Given the description of an element on the screen output the (x, y) to click on. 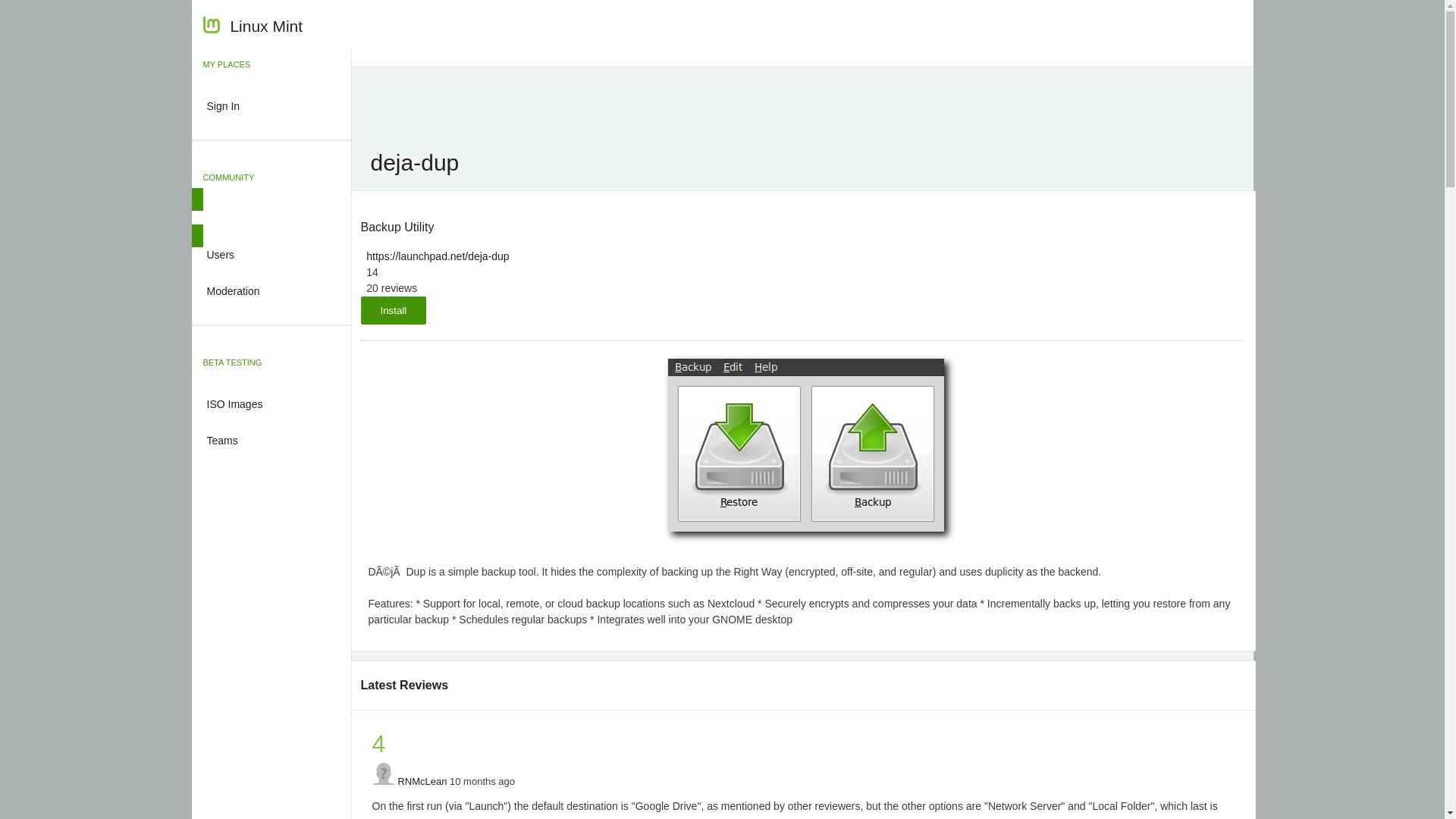
Teams (270, 438)
Moderation (270, 290)
RNMcLean (421, 781)
Software (270, 217)
Sign In (270, 105)
Install (393, 310)
Linux Mint (252, 28)
Users (270, 253)
Install (393, 309)
ISO Images (270, 402)
